Given the description of an element on the screen output the (x, y) to click on. 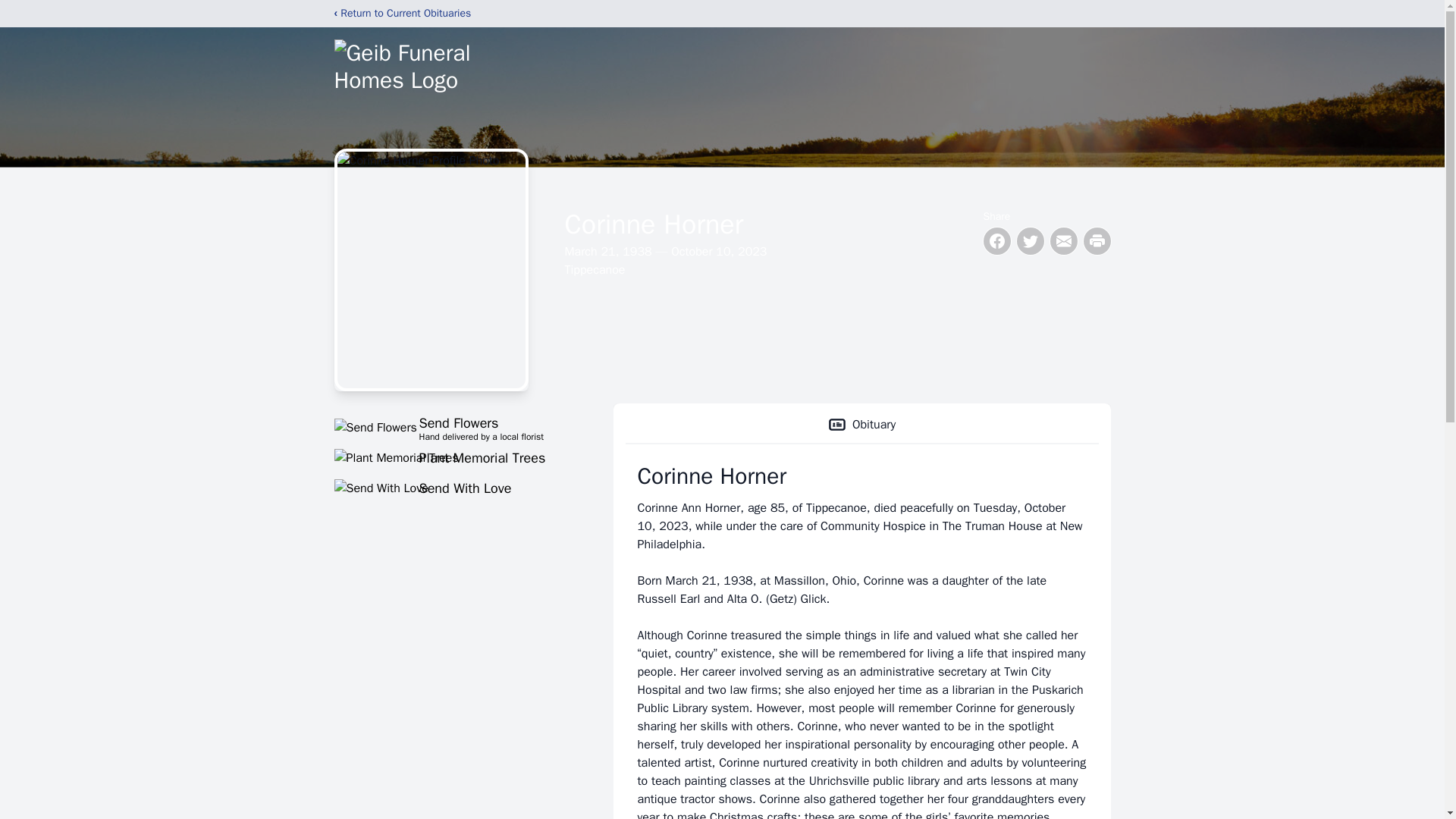
Obituary (454, 427)
Plant Memorial Trees (860, 425)
Send With Love (454, 457)
